Given the description of an element on the screen output the (x, y) to click on. 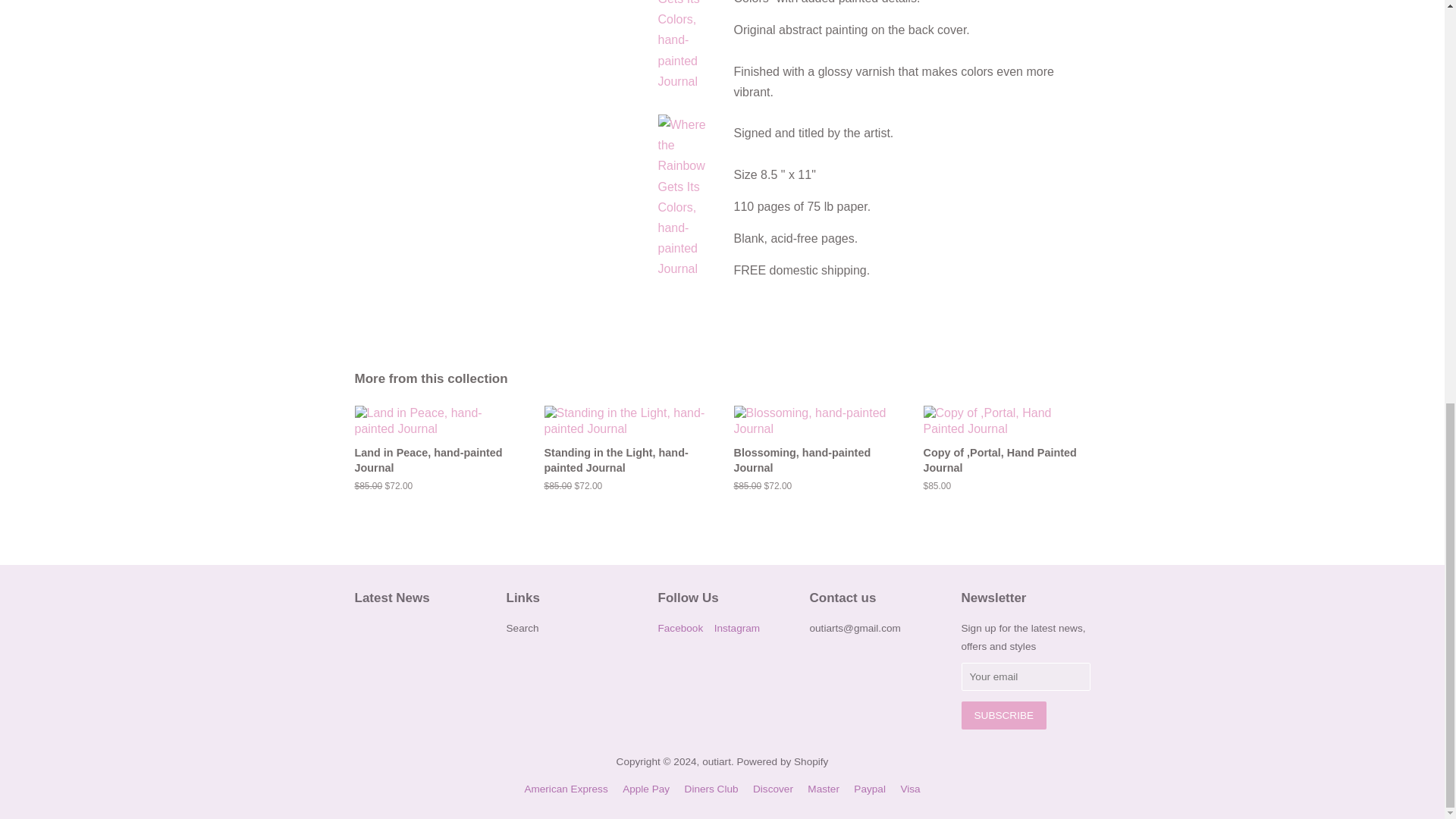
outiart on Instagram (737, 627)
outiart on Facebook (680, 627)
Subscribe (1003, 715)
